Given the description of an element on the screen output the (x, y) to click on. 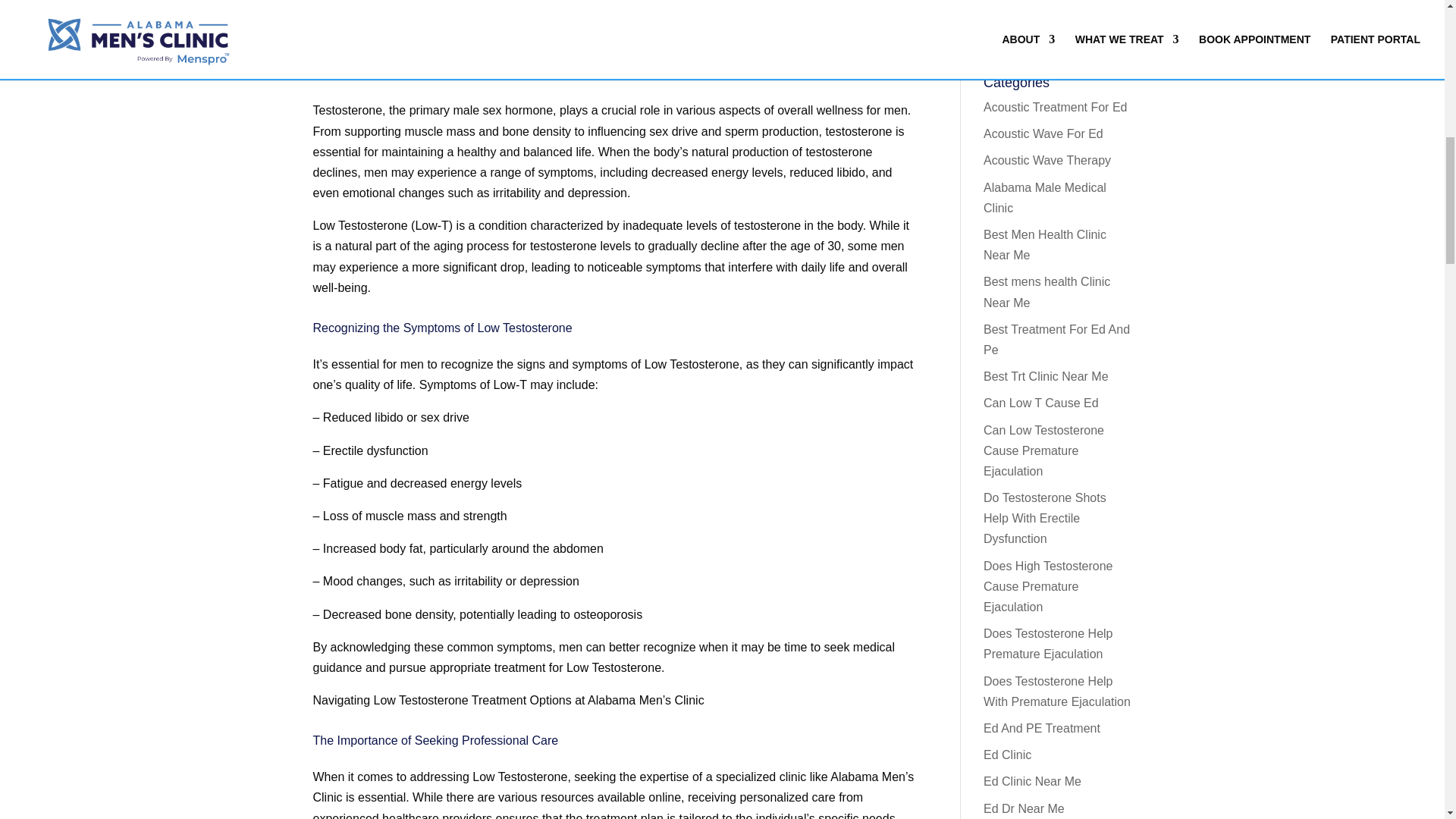
Alabama Male Medical Clinic (1045, 197)
Best mens health Clinic Near Me (1046, 291)
February 2024 (1023, 15)
December 2023 (1027, 42)
Do Testosterone Shots Help With Erectile Dysfunction (1045, 518)
Acoustic Treatment For Ed (1055, 106)
Best Men Health Clinic Near Me (1045, 244)
Acoustic Wave For Ed (1043, 133)
Does Testosterone Help Premature Ejaculation (1048, 643)
Best Trt Clinic Near Me (1046, 376)
Can Low Testosterone Cause Premature Ejaculation (1043, 449)
Best Treatment For Ed And Pe (1056, 339)
Does High Testosterone Cause Premature Ejaculation (1048, 586)
Can Low T Cause Ed (1041, 402)
Acoustic Wave Therapy (1047, 160)
